Given the description of an element on the screen output the (x, y) to click on. 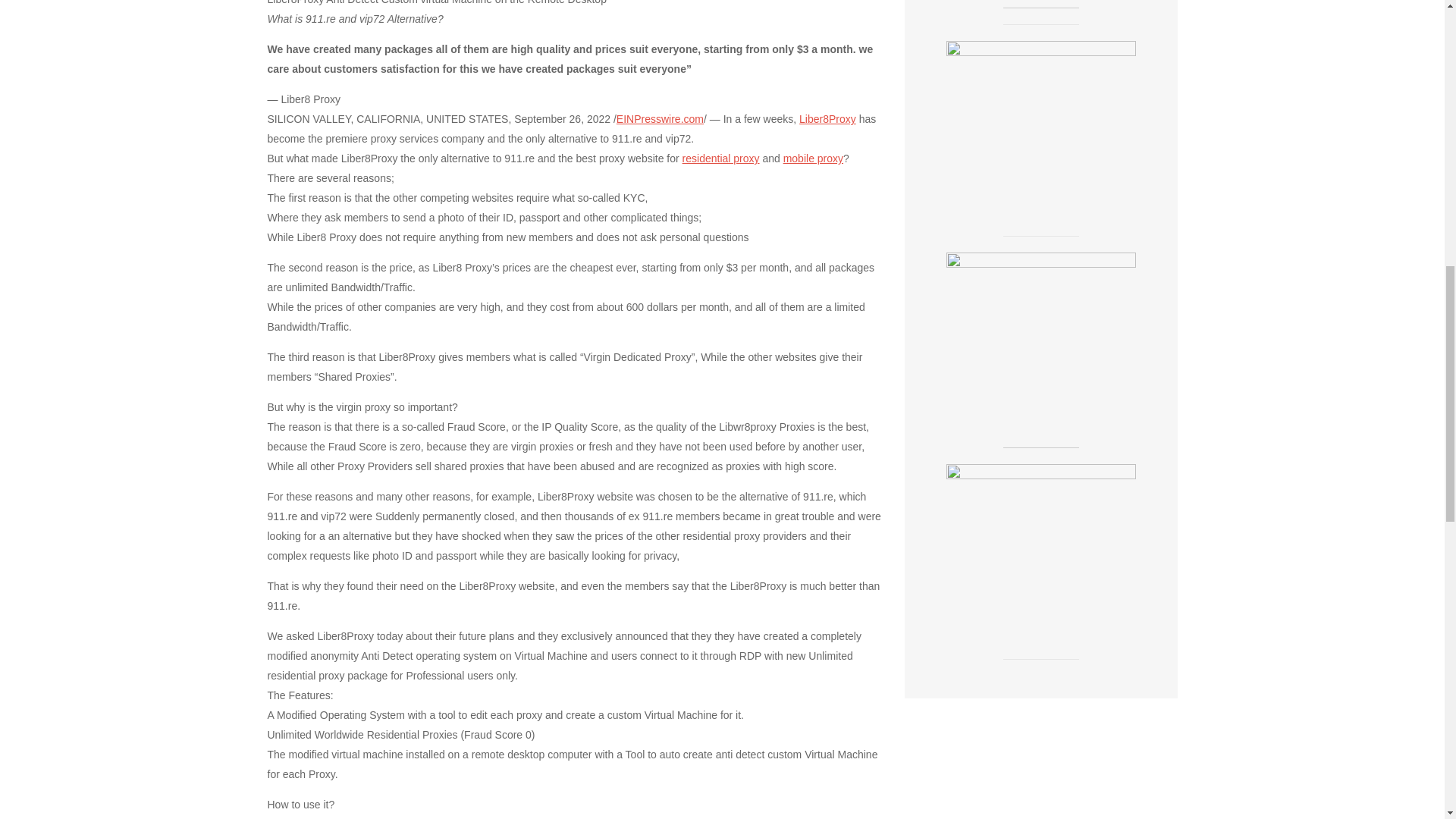
residential proxy (721, 158)
mobile proxy (813, 158)
Liber8Proxy (827, 119)
EINPresswire.com (659, 119)
